Given the description of an element on the screen output the (x, y) to click on. 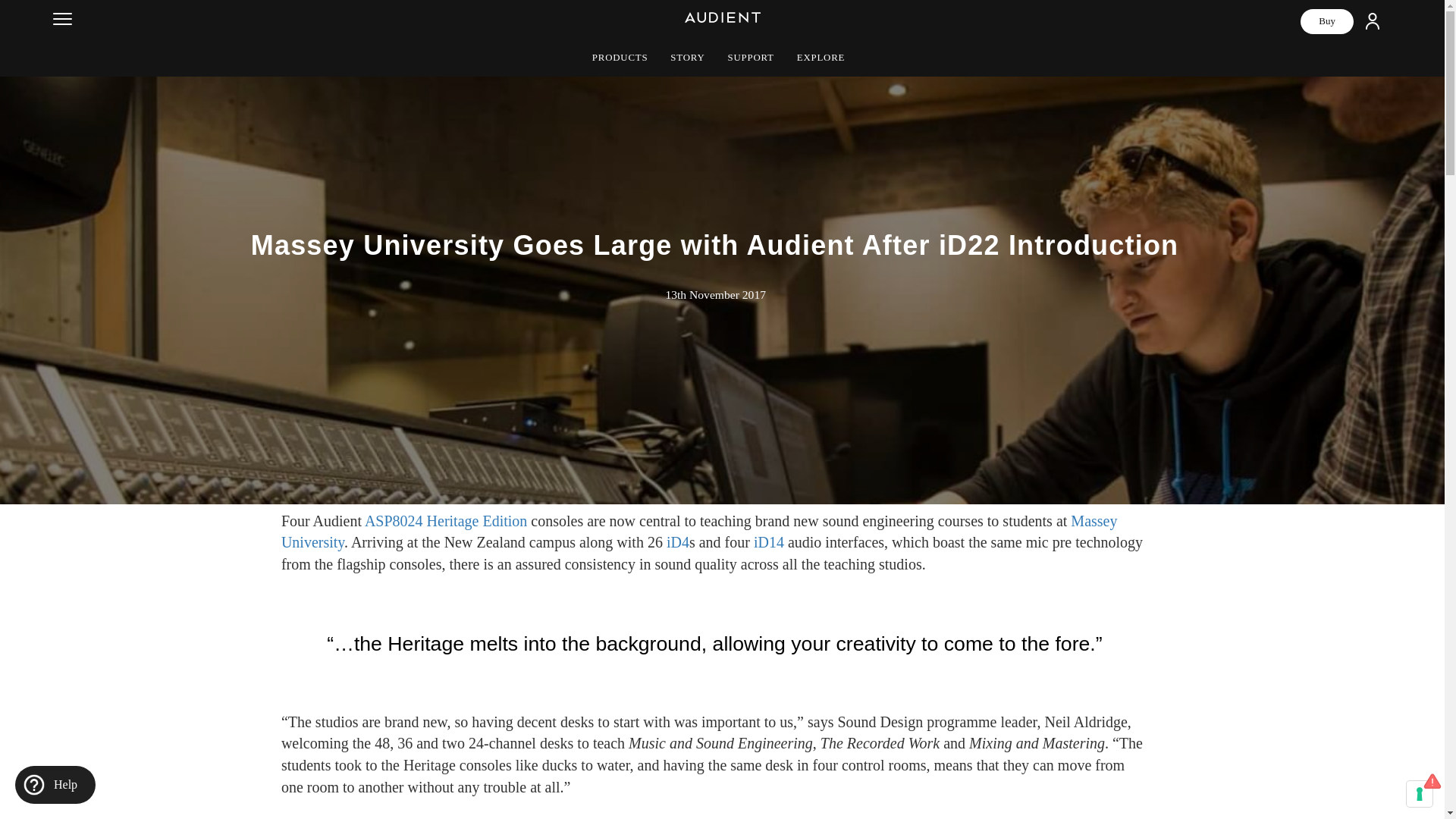
PRODUCTS (619, 57)
Help (55, 784)
Audient (677, 14)
Buy (1327, 21)
